Given the description of an element on the screen output the (x, y) to click on. 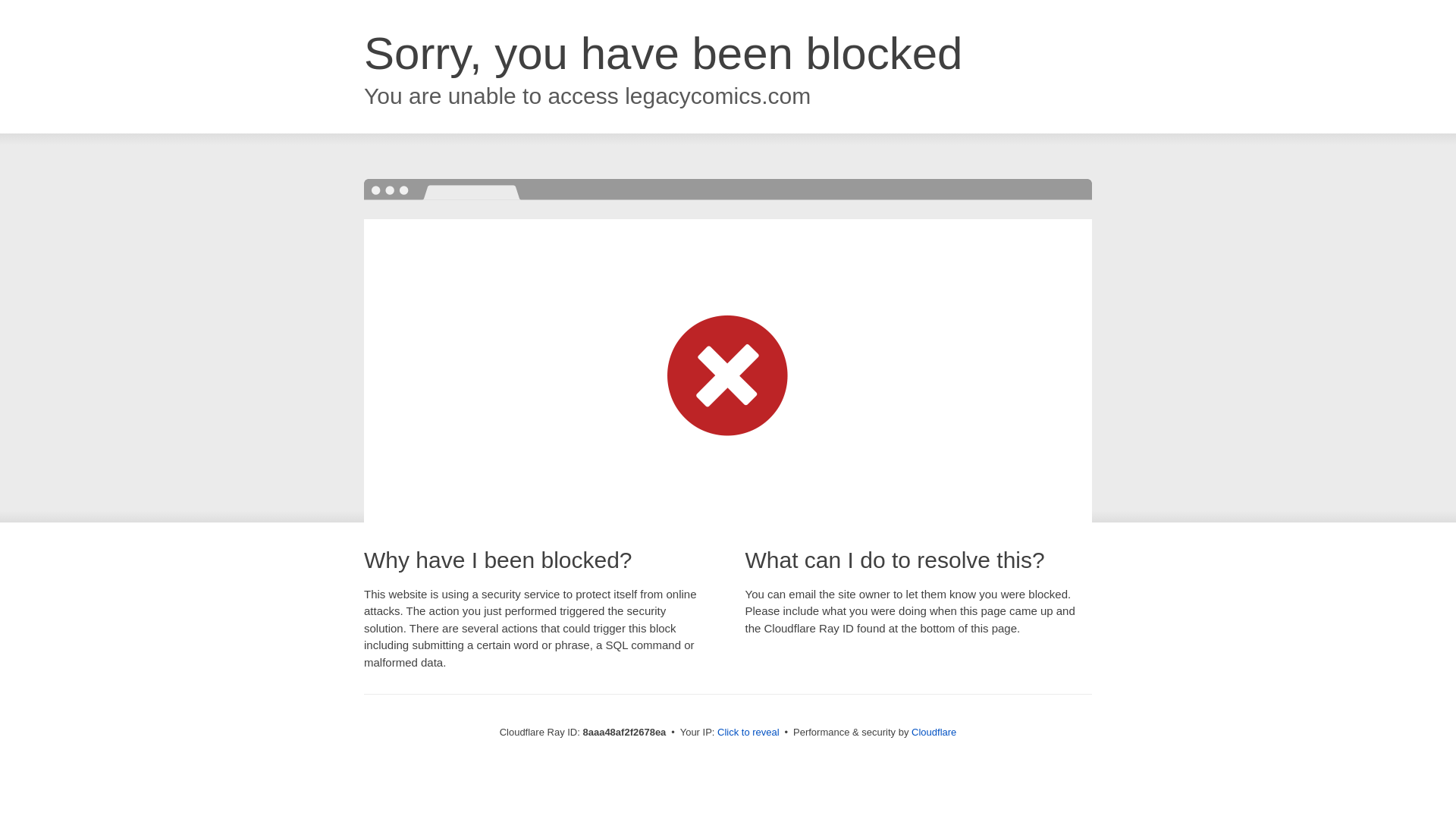
Click to reveal (747, 732)
Cloudflare (933, 731)
